Given the description of an element on the screen output the (x, y) to click on. 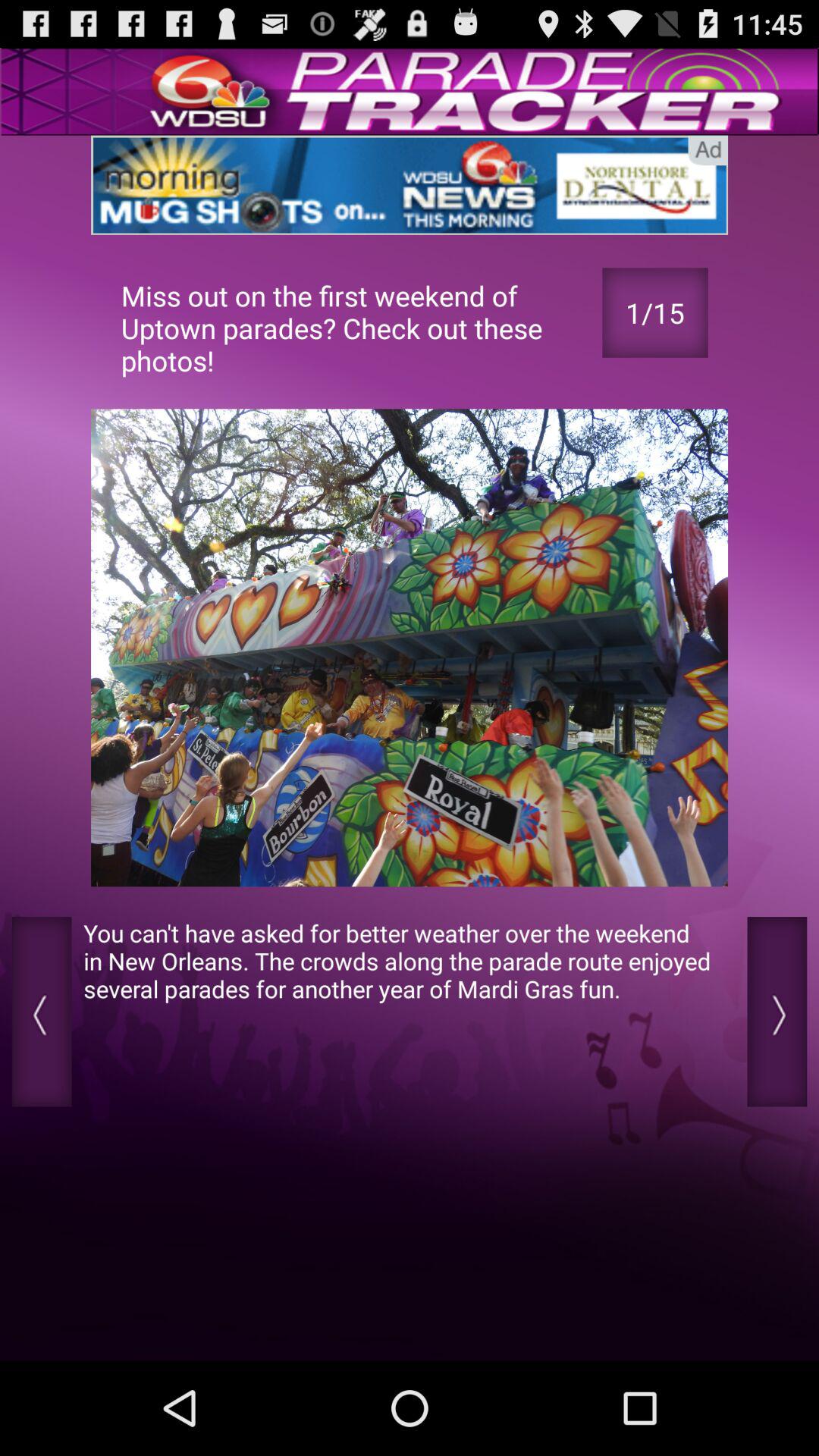
a link to an advertisement (409, 184)
